Given the description of an element on the screen output the (x, y) to click on. 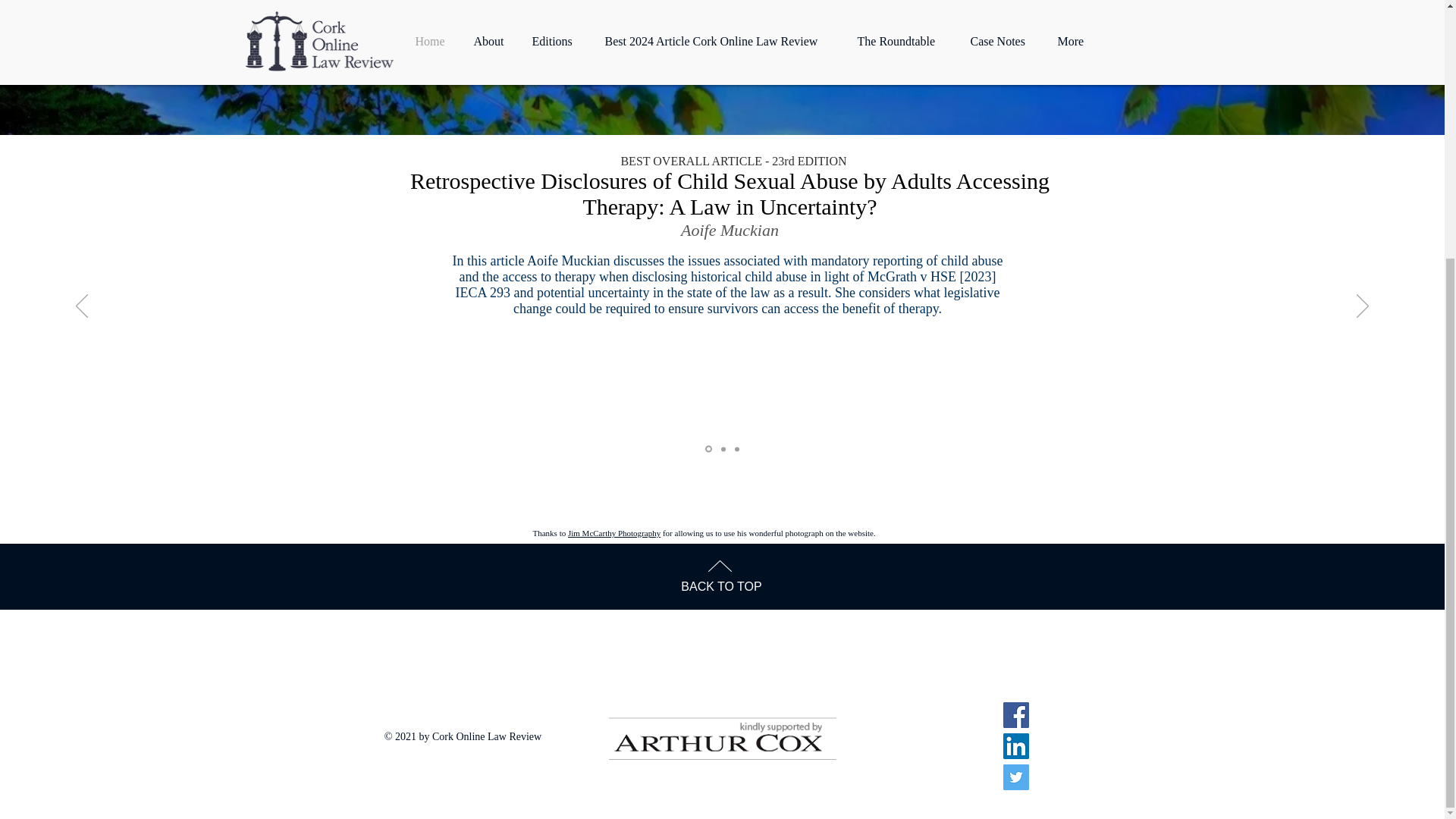
Aoife Muckian (729, 229)
Jim McCarthy Photography (614, 532)
BACK TO TOP (721, 585)
 BEST OVERALL ARTICLE - 23rd EDITION (731, 160)
